Given the description of an element on the screen output the (x, y) to click on. 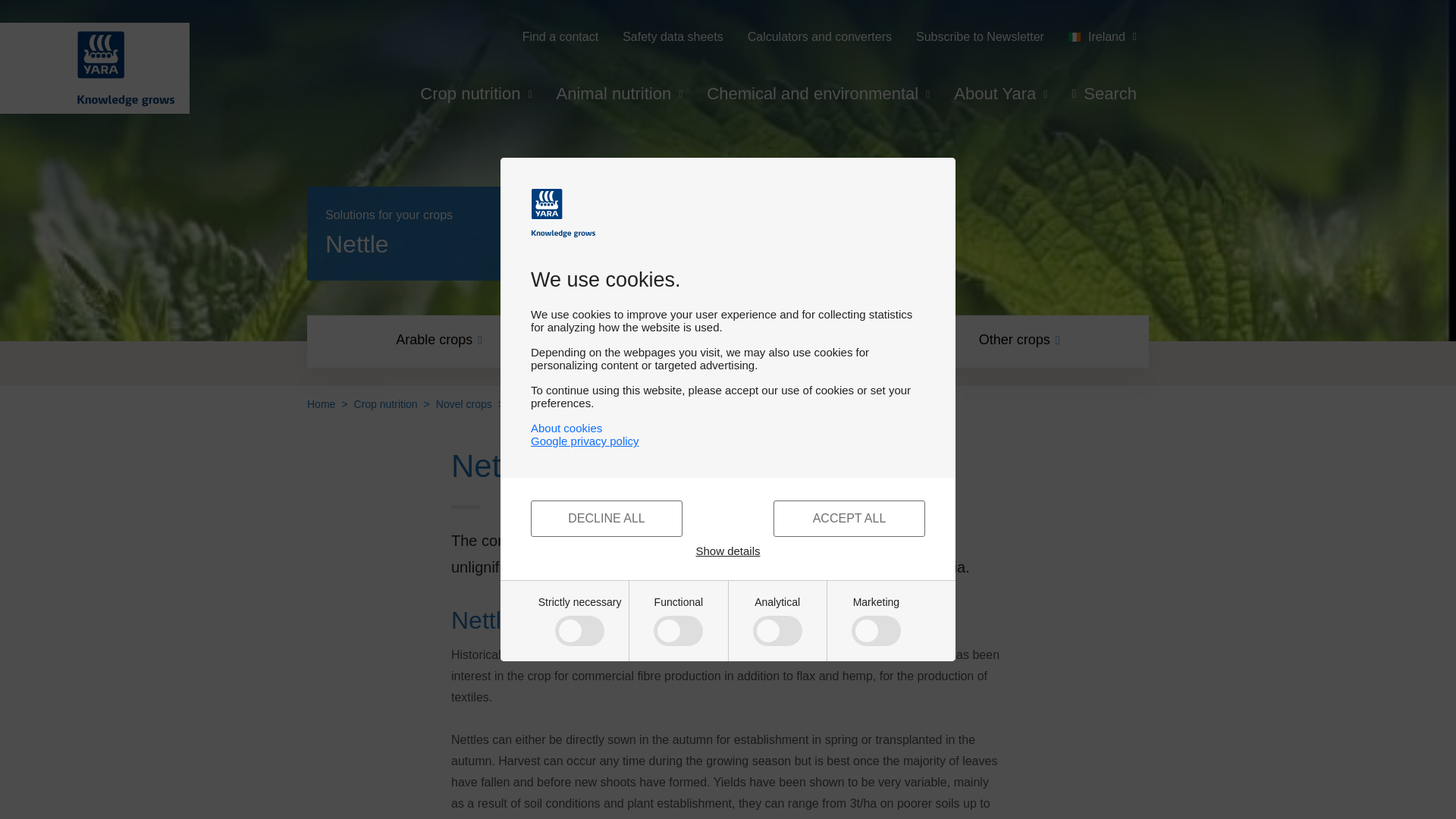
ACCEPT ALL (848, 518)
About cookies (566, 427)
DECLINE ALL (606, 518)
Google privacy policy (727, 440)
Show details (727, 550)
